Given the description of an element on the screen output the (x, y) to click on. 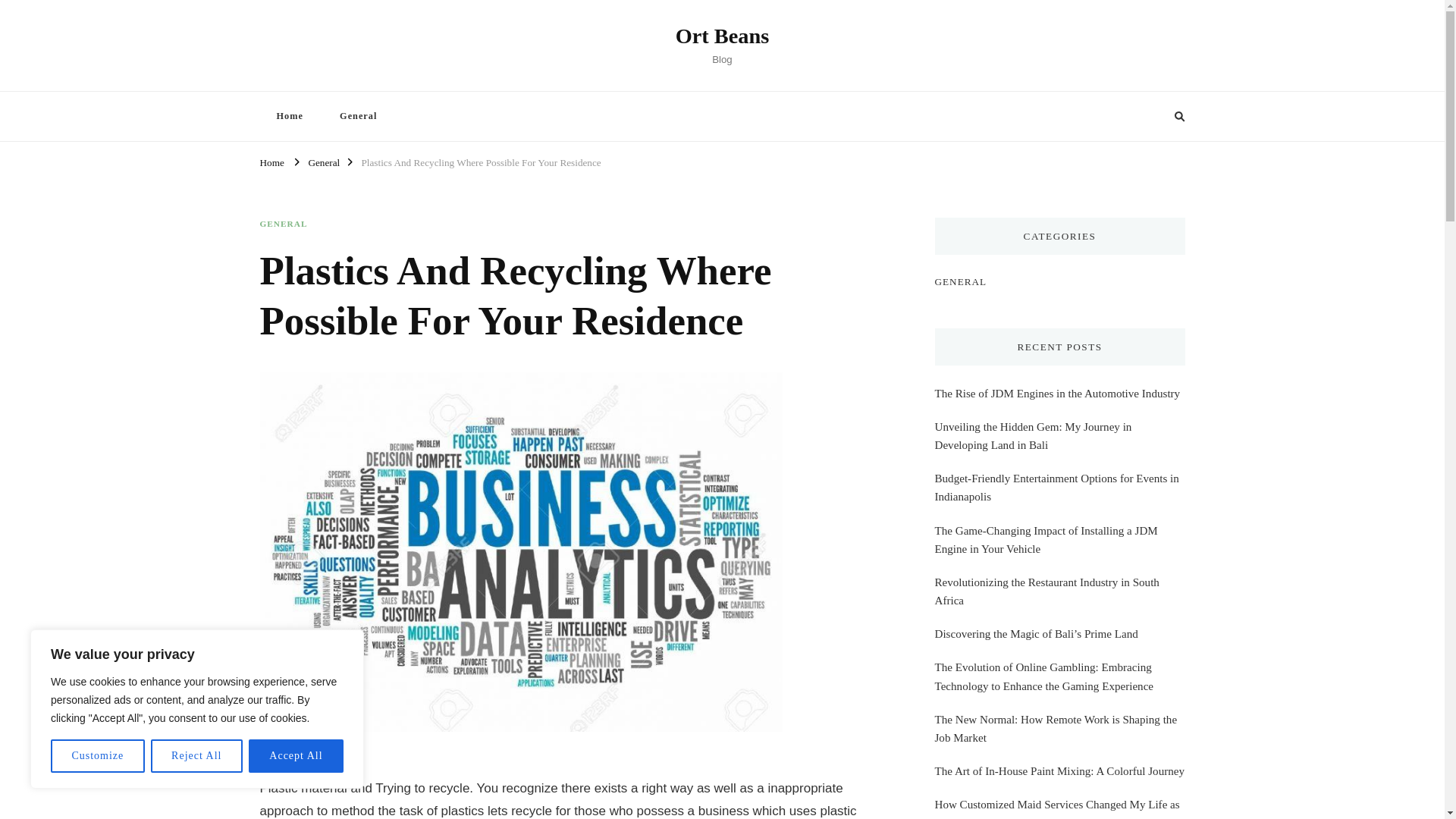
Accept All (295, 756)
GENERAL (283, 223)
Home (288, 115)
Home (271, 161)
General (358, 115)
Ort Beans (722, 35)
General (323, 161)
Reject All (197, 756)
Plastics And Recycling Where Possible For Your Residence (480, 161)
Customize (97, 756)
